Given the description of an element on the screen output the (x, y) to click on. 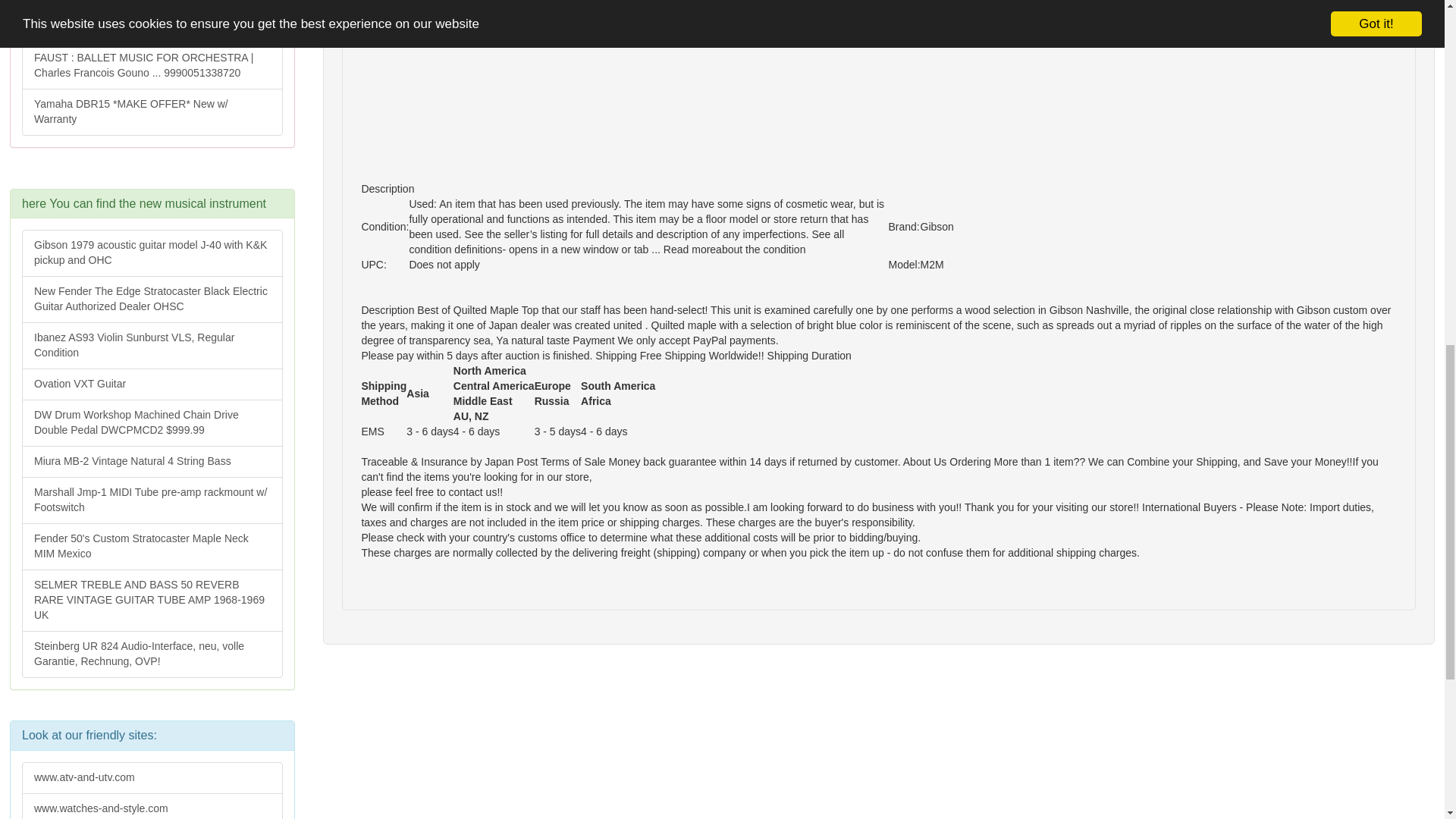
Rupert Neve Designs RND 543 Kompressor API 500 Format (151, 21)
Ovation VXT Guitar (151, 384)
Fender 50's Custom Stratocaster Maple Neck MIM Mexico (151, 546)
www.watches-and-style.com (151, 806)
Ibanez AS93 Violin Sunburst VLS, Regular Condition (151, 345)
Miura MB-2 Vintage Natural 4 String Bass (151, 461)
Advertisement (816, 36)
www.atv-and-utv.com (151, 777)
